Given the description of an element on the screen output the (x, y) to click on. 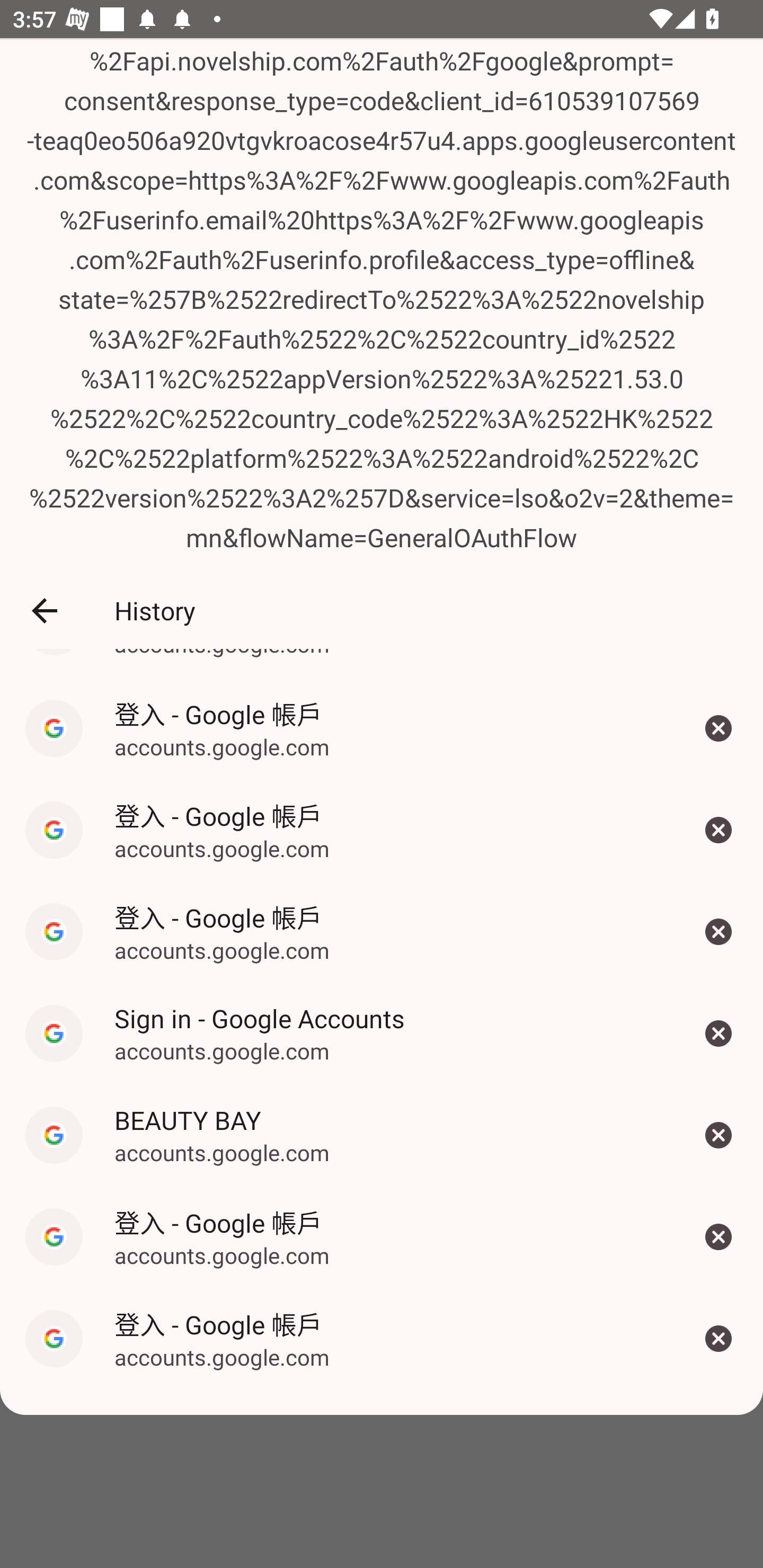
Back (44, 610)
登入 - Google 帳戶 Remove (718, 728)
登入 - Google 帳戶 Remove (718, 830)
登入 - Google 帳戶 Remove (718, 932)
Sign in - Google Accounts Remove (718, 1034)
BEAUTY BAY accounts.google.com BEAUTY BAY Remove (381, 1135)
BEAUTY BAY Remove (718, 1135)
登入 - Google 帳戶 Remove (718, 1236)
登入 - Google 帳戶 Remove (718, 1338)
